Given the description of an element on the screen output the (x, y) to click on. 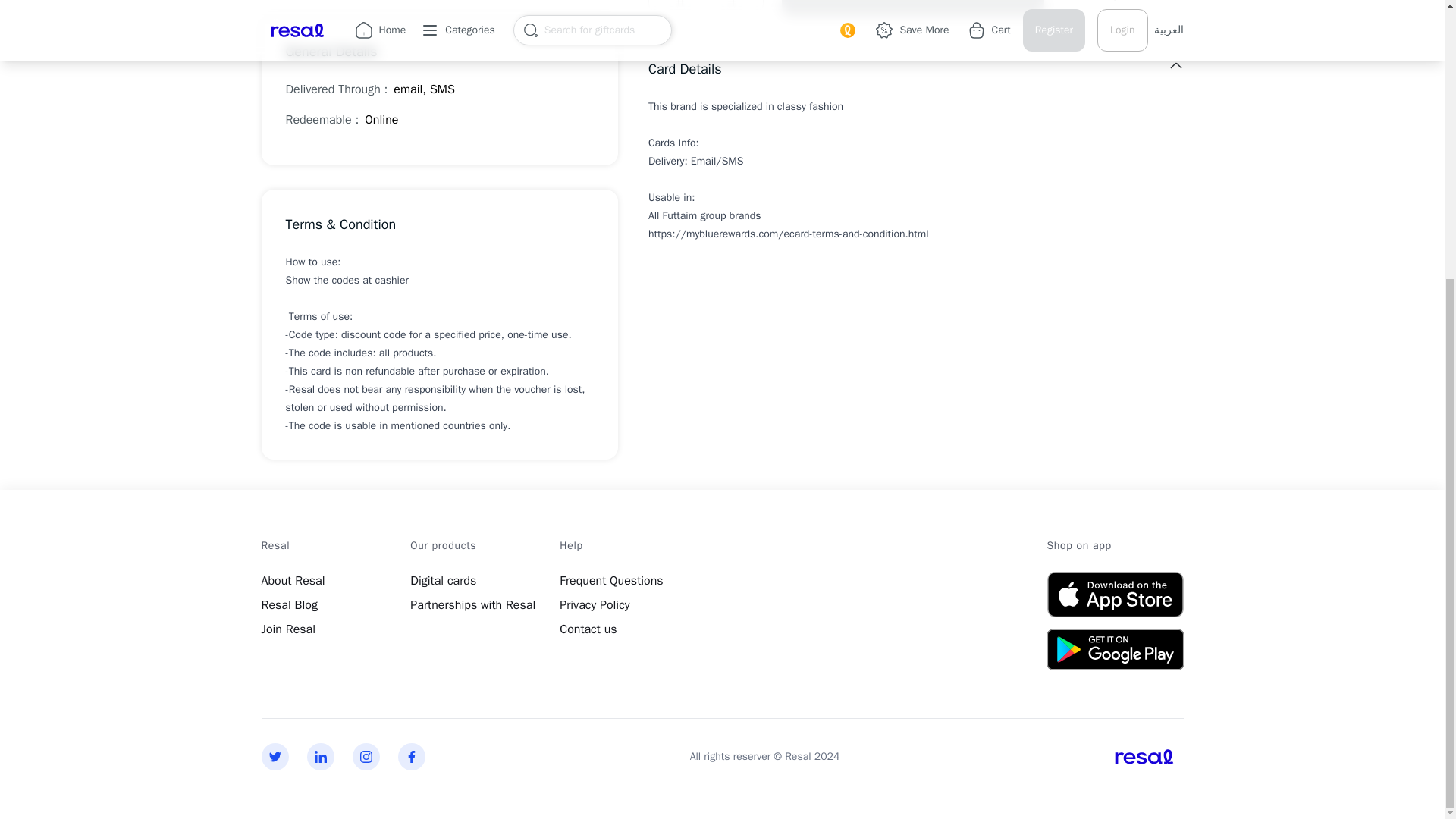
Digital cards (443, 580)
Contact us (587, 629)
Instagram (365, 756)
Facebook (411, 756)
Frequent Questions (610, 580)
1 (705, 5)
Linkedin (319, 756)
Resal Blog (288, 604)
Buy card (1121, 7)
Join Resal (287, 629)
